Given the description of an element on the screen output the (x, y) to click on. 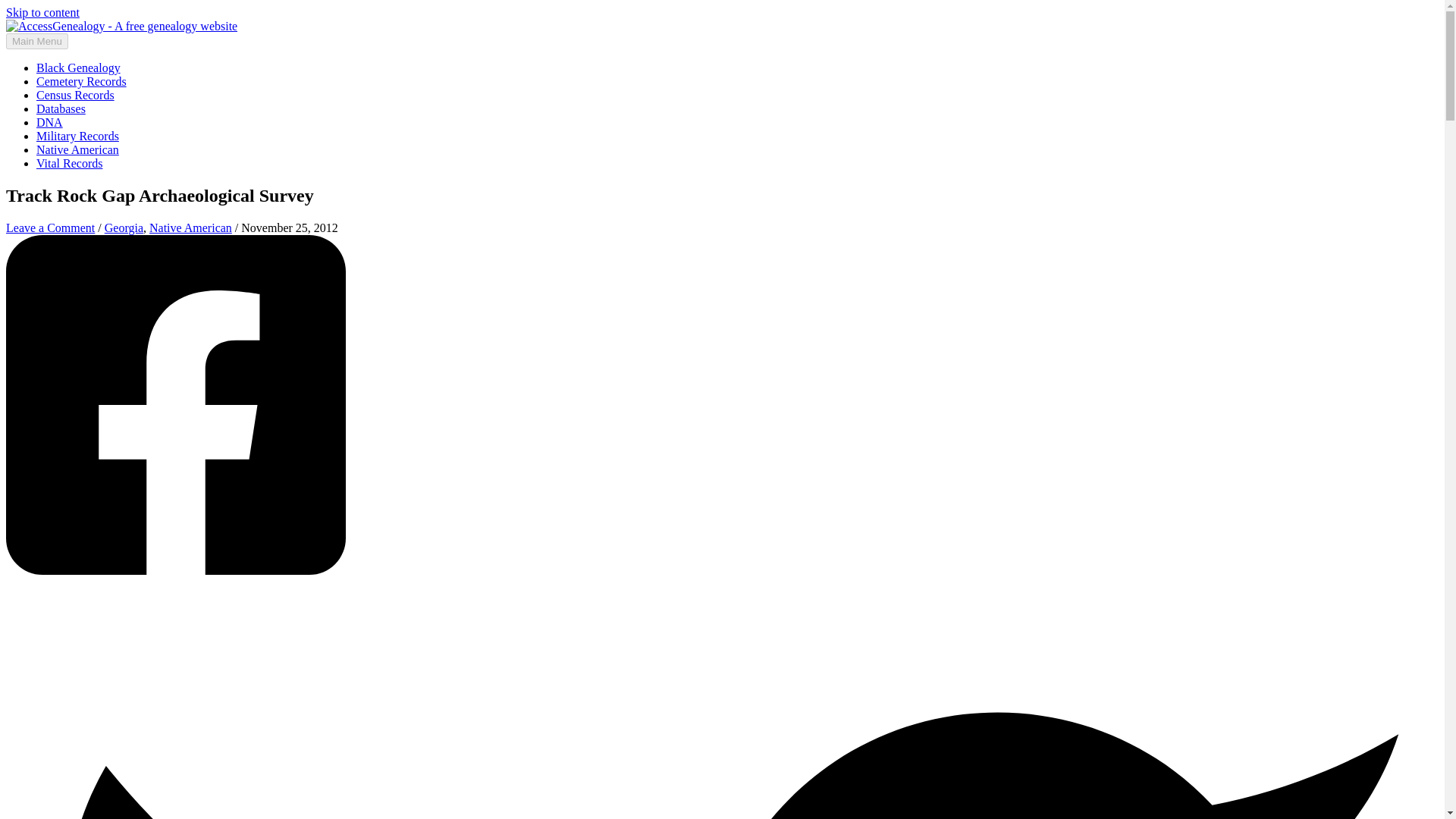
United States Vital Records (68, 163)
Skip to content (42, 11)
United States Military Records (77, 135)
Cemetery Records (81, 81)
Georgia (123, 227)
Native American (190, 227)
United States Cemetery Records (81, 81)
Black Genealogy (78, 67)
Skip to content (42, 11)
Native American (77, 149)
Databases (60, 108)
Native American History and Genealogy (77, 149)
Military Records (77, 135)
DNA (49, 122)
Genealogy Databases (60, 108)
